Given the description of an element on the screen output the (x, y) to click on. 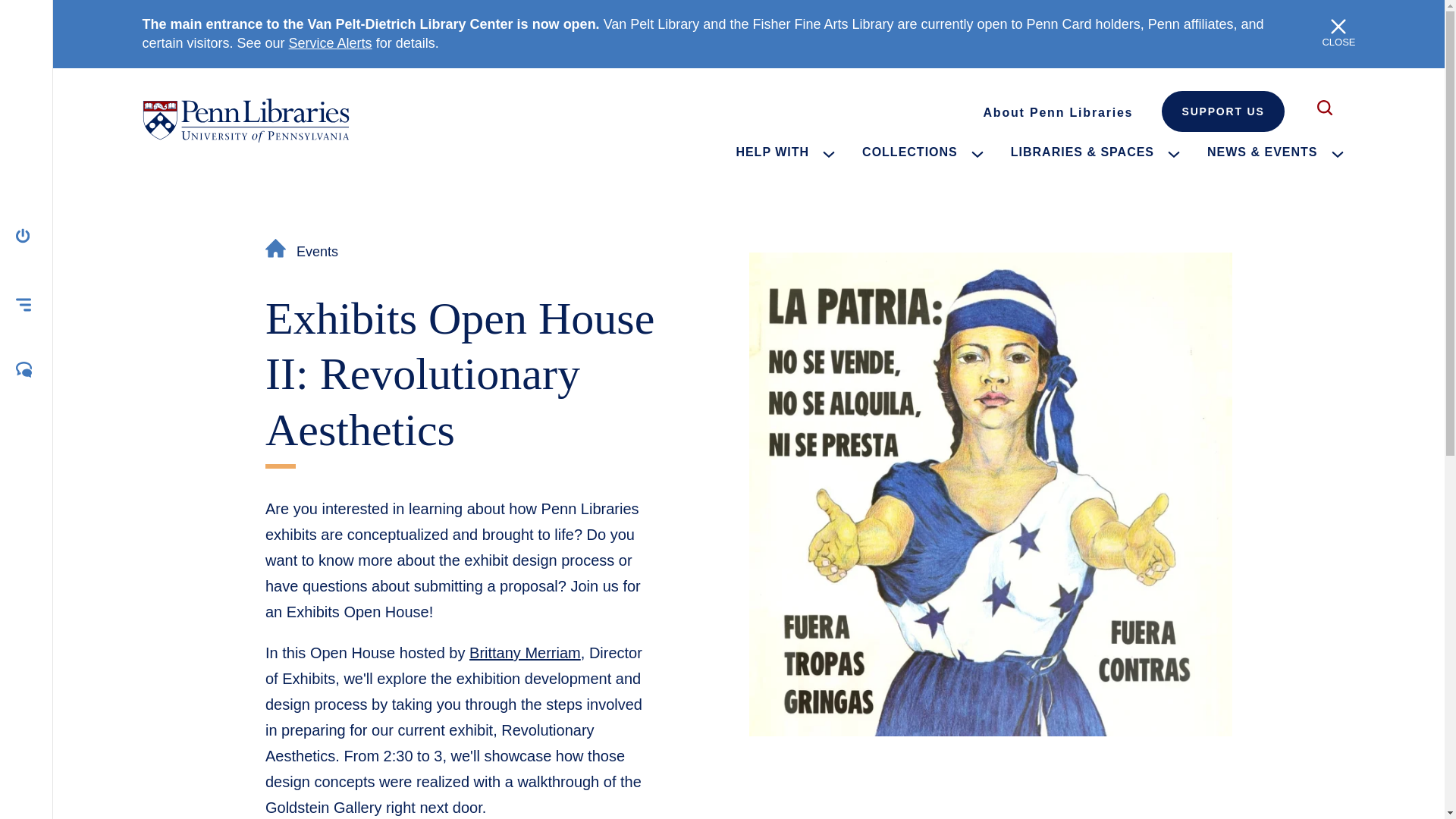
Support UsSupport Us (1222, 110)
Penn Libraries logo (245, 120)
